Given the description of an element on the screen output the (x, y) to click on. 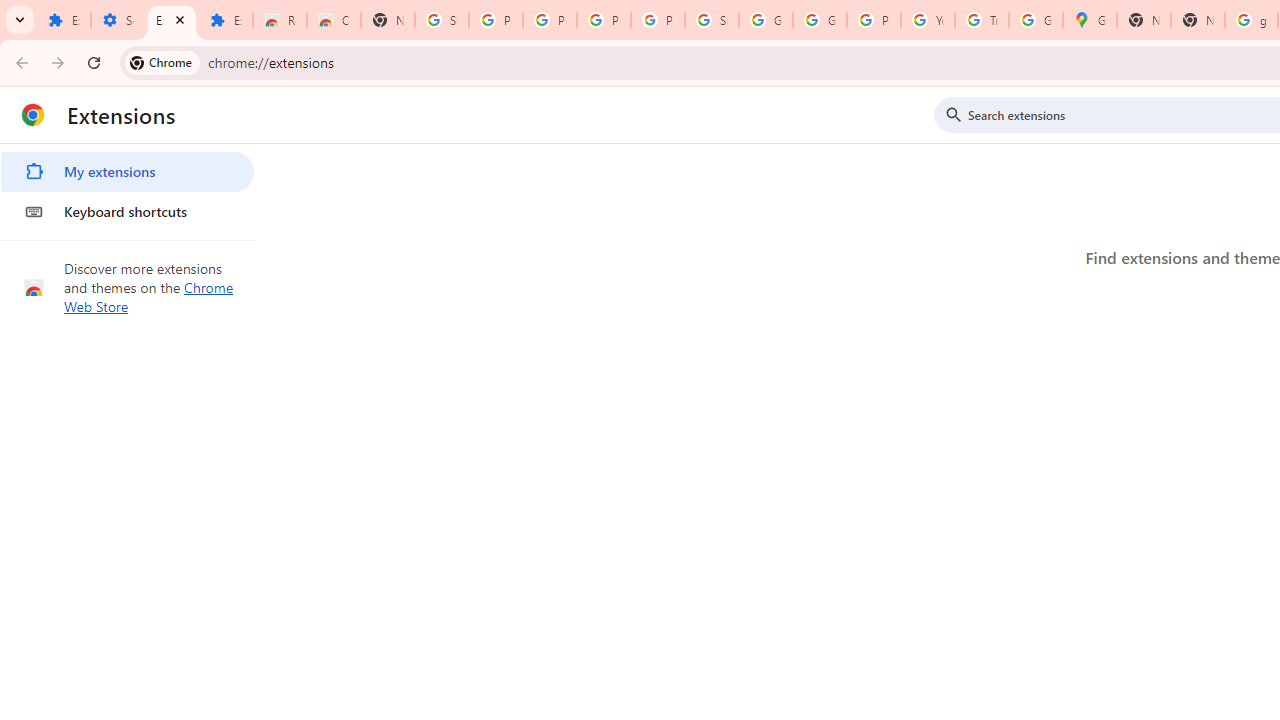
Reviews: Helix Fruit Jump Arcade Game (280, 20)
YouTube (927, 20)
AutomationID: sectionMenu (128, 187)
Sign in - Google Accounts (441, 20)
Extensions (225, 20)
Chrome Web Store - Themes (333, 20)
Sign in - Google Accounts (711, 20)
